Given the description of an element on the screen output the (x, y) to click on. 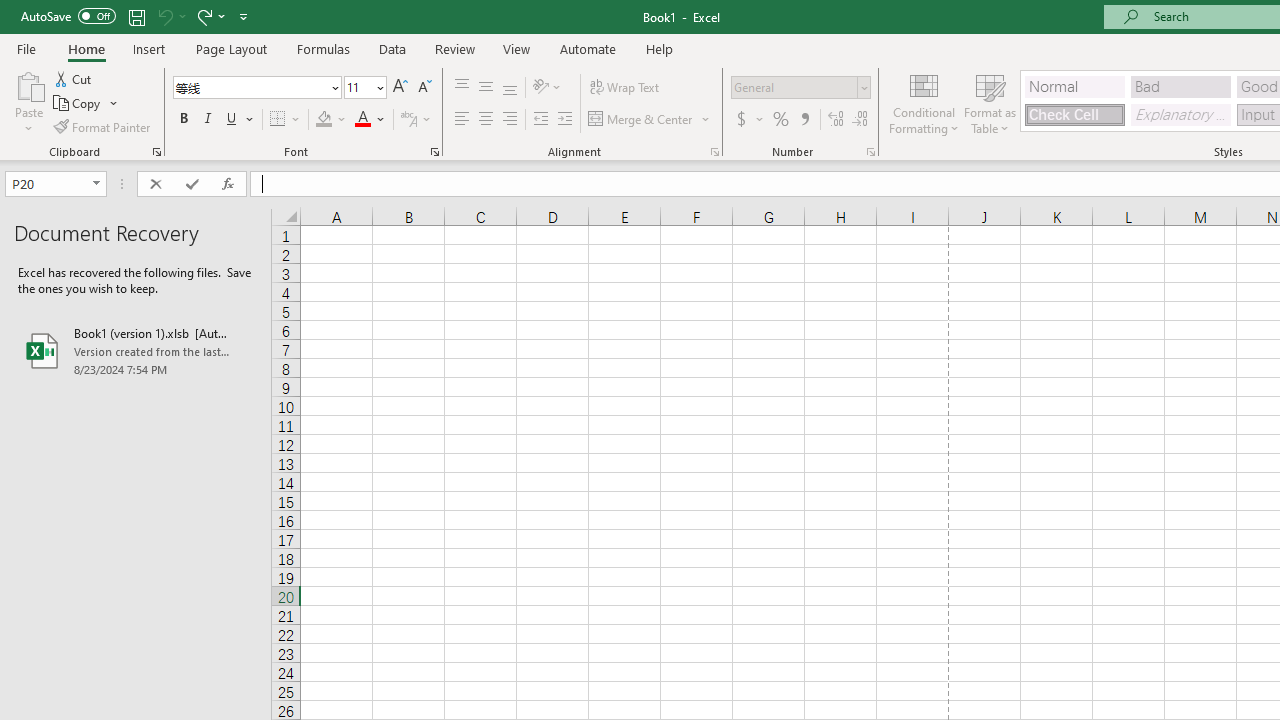
Increase Decimal (836, 119)
Format Cell Alignment (714, 151)
Font Color RGB(255, 0, 0) (362, 119)
Center (485, 119)
Conditional Formatting (924, 102)
Align Left (461, 119)
Fill Color (331, 119)
Borders (285, 119)
Decrease Indent (540, 119)
Number Format (800, 87)
